Given the description of an element on the screen output the (x, y) to click on. 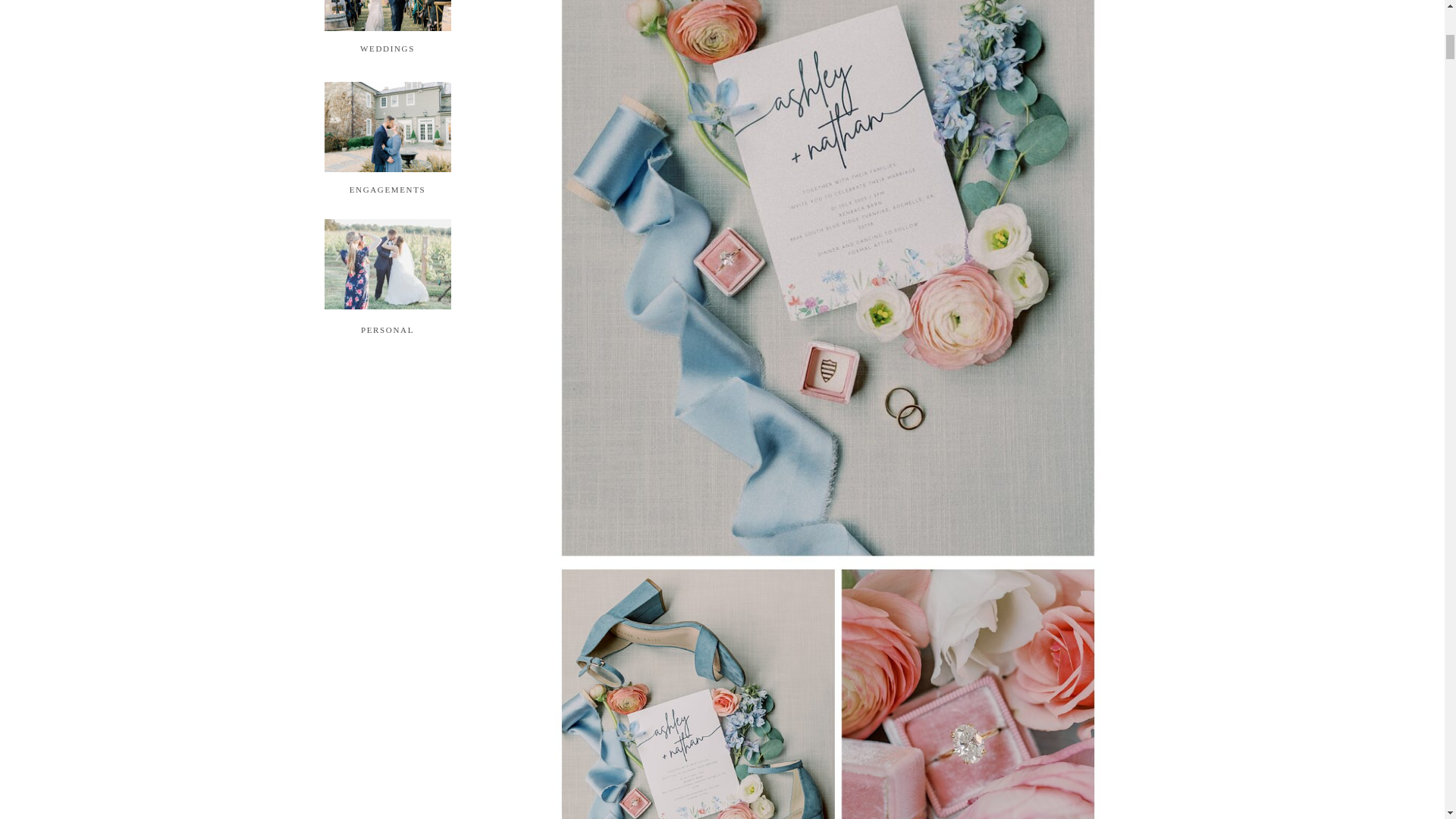
ENGAGEMENTS (387, 188)
WEDDINGS (387, 47)
PERSONAL (387, 328)
